Given the description of an element on the screen output the (x, y) to click on. 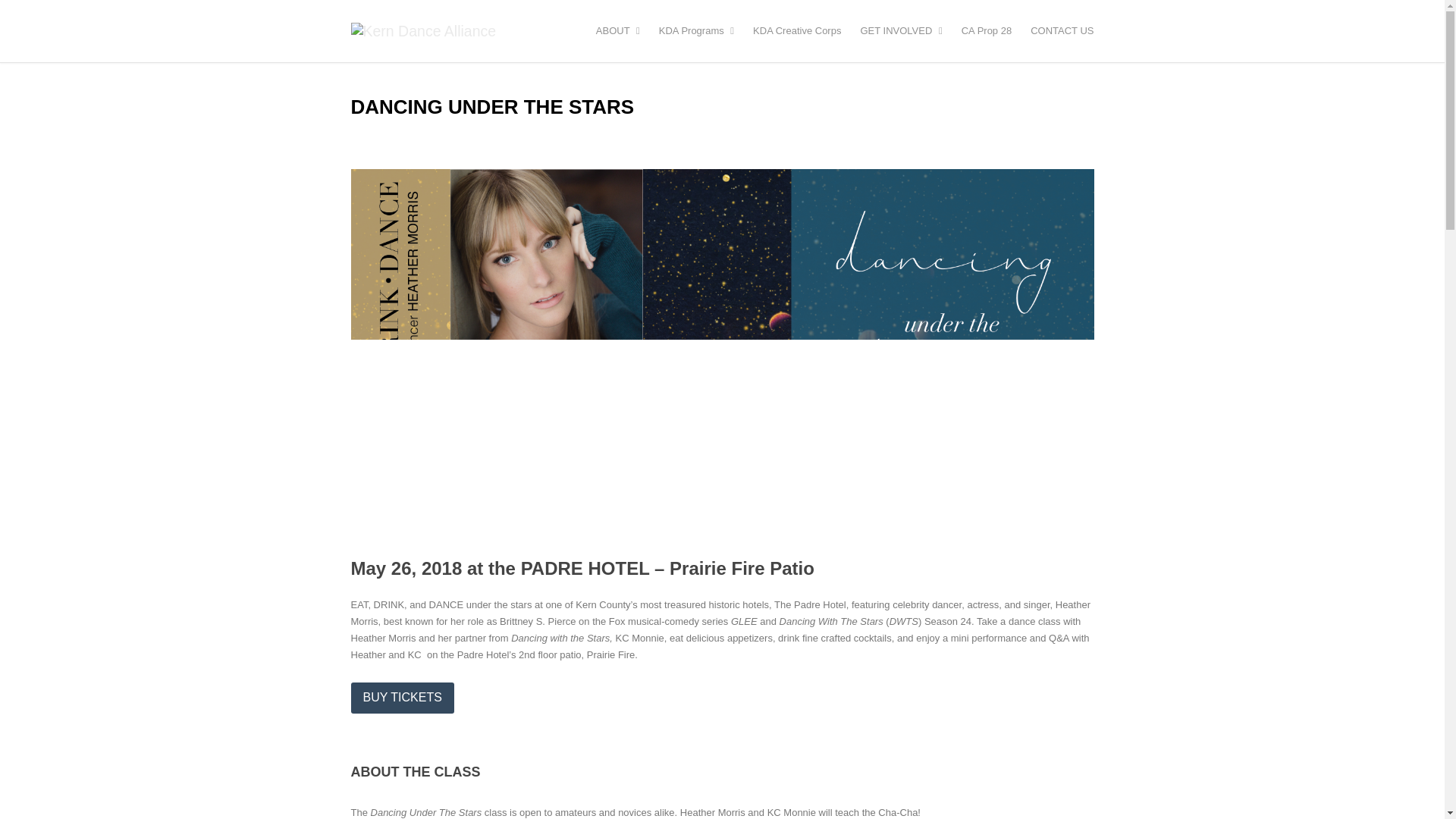
CONTACT US (1061, 30)
GET INVOLVED (901, 30)
CA Prop 28 (985, 30)
KDA Creative Corps (796, 30)
KDA Programs (696, 30)
Visit Site (401, 698)
BUY TICKETS (401, 698)
ABOUT (617, 30)
Kern Dance Alliance (721, 30)
